Given the description of an element on the screen output the (x, y) to click on. 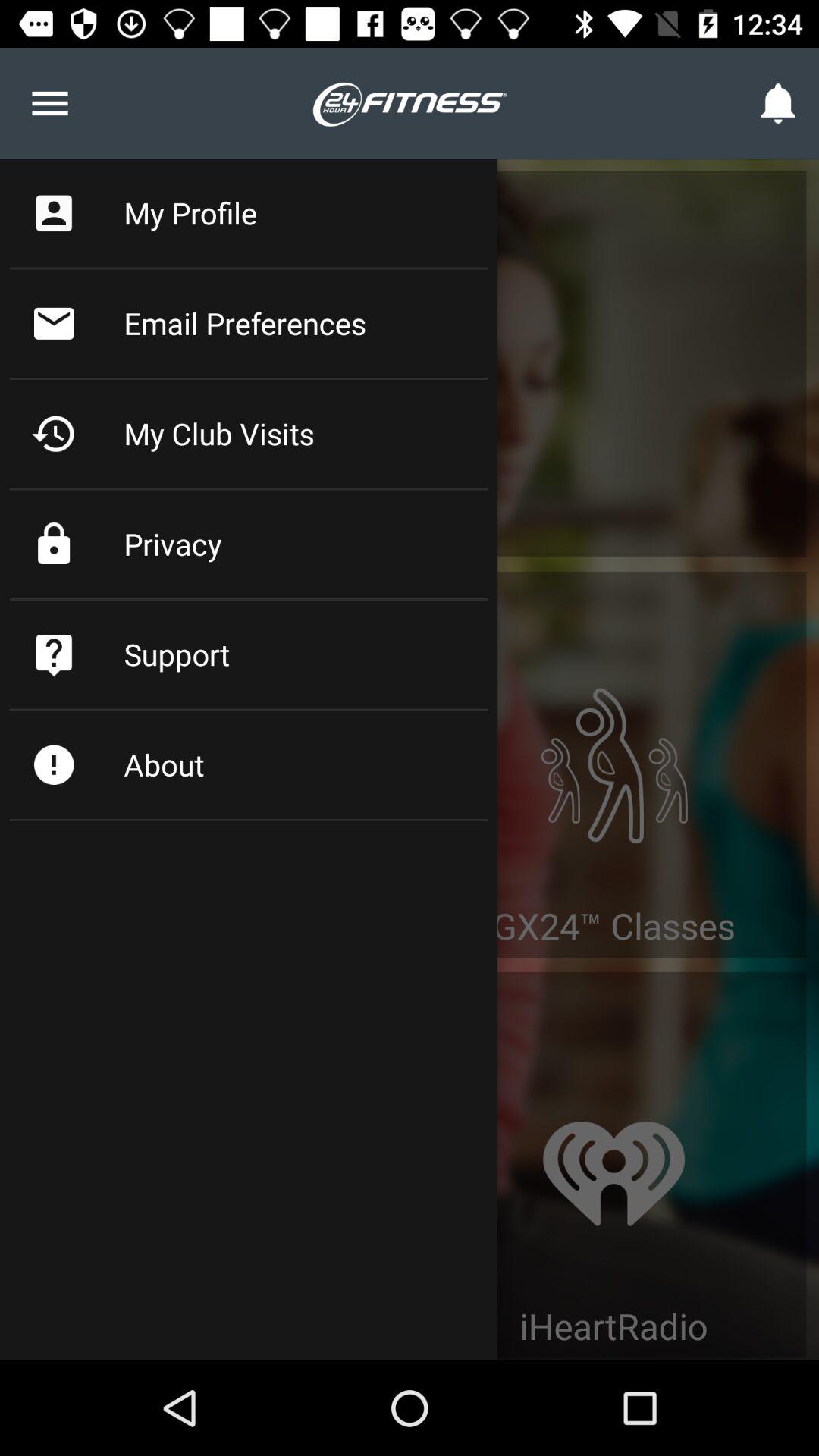
click on the clock icon (53, 434)
click on bell icon (779, 103)
select the first image (613, 740)
select the icon left to the my profile (53, 213)
select the text which is left to the bell icon (409, 103)
go to the icon which is just below the lock icon (53, 654)
select the message icon which is just beside the email preferences (53, 323)
click on the message icon which is just beside the email preferences (53, 323)
